Given the description of an element on the screen output the (x, y) to click on. 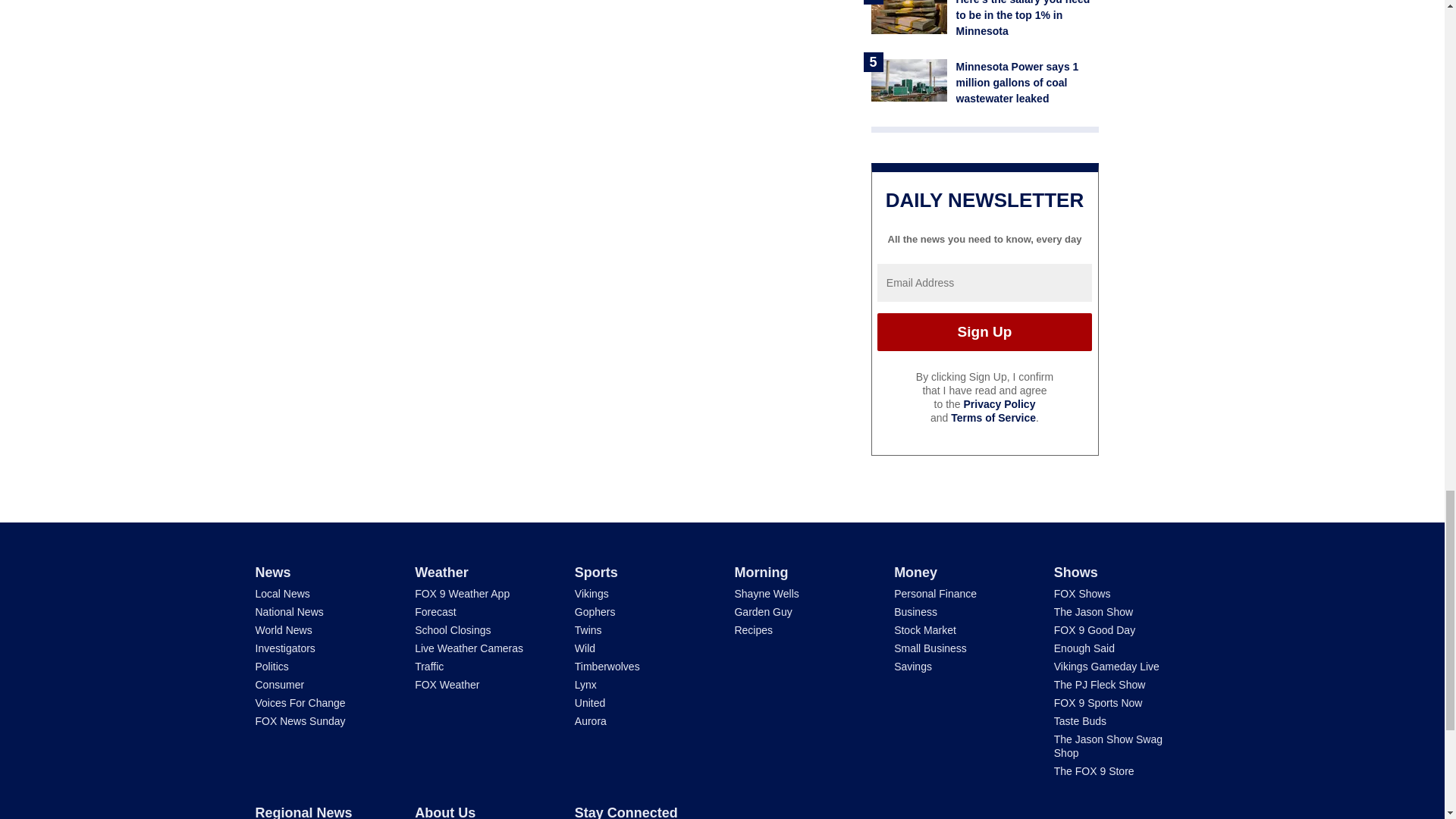
Sign Up (984, 331)
